Given the description of an element on the screen output the (x, y) to click on. 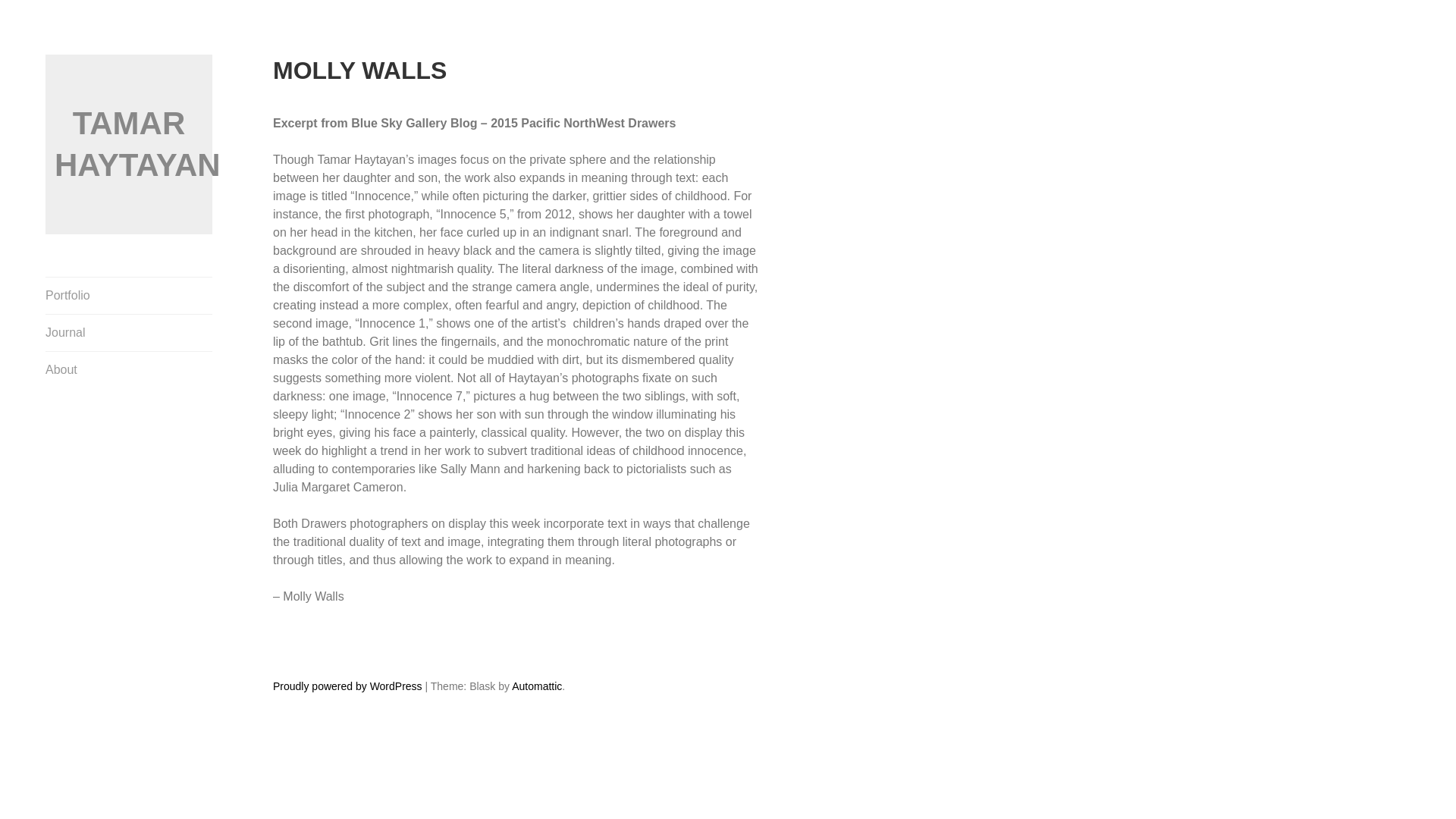
Automattic (537, 686)
About (128, 370)
Journal (128, 332)
Portfolio (128, 295)
Proudly powered by WordPress (347, 686)
TAMAR HAYTAYAN (138, 143)
